Given the description of an element on the screen output the (x, y) to click on. 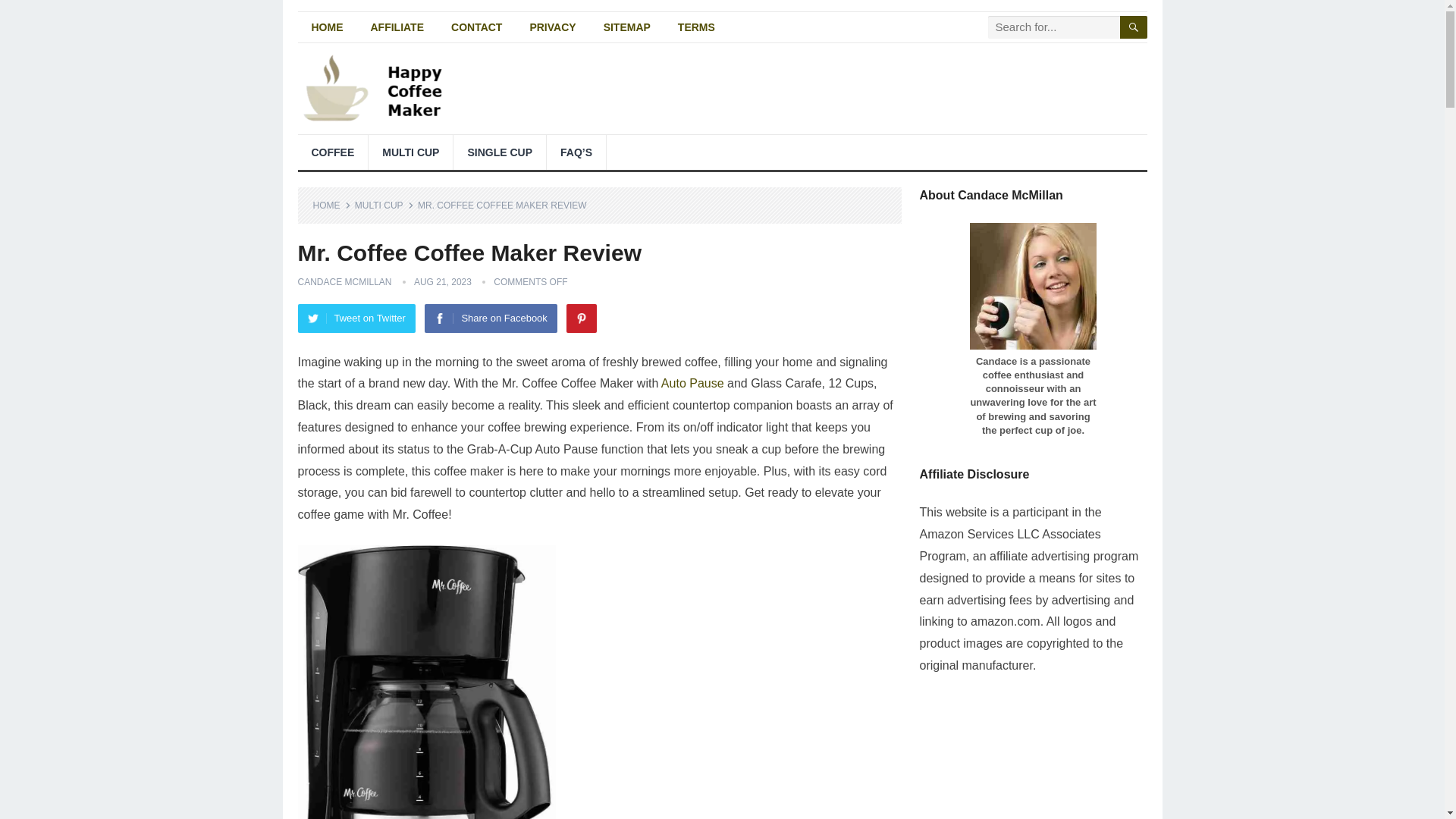
PRIVACY (552, 27)
MULTI CUP (410, 152)
CONTACT (476, 27)
SITEMAP (626, 27)
Tweet on Twitter (355, 317)
Posts by Candace McMillan (344, 281)
View all posts in Multi Cup (384, 204)
MULTI CUP (384, 204)
Pinterest (581, 317)
HOME (331, 204)
CANDACE MCMILLAN (344, 281)
Auto Pause (692, 382)
HOME (326, 27)
Share on Facebook (490, 317)
